Given the description of an element on the screen output the (x, y) to click on. 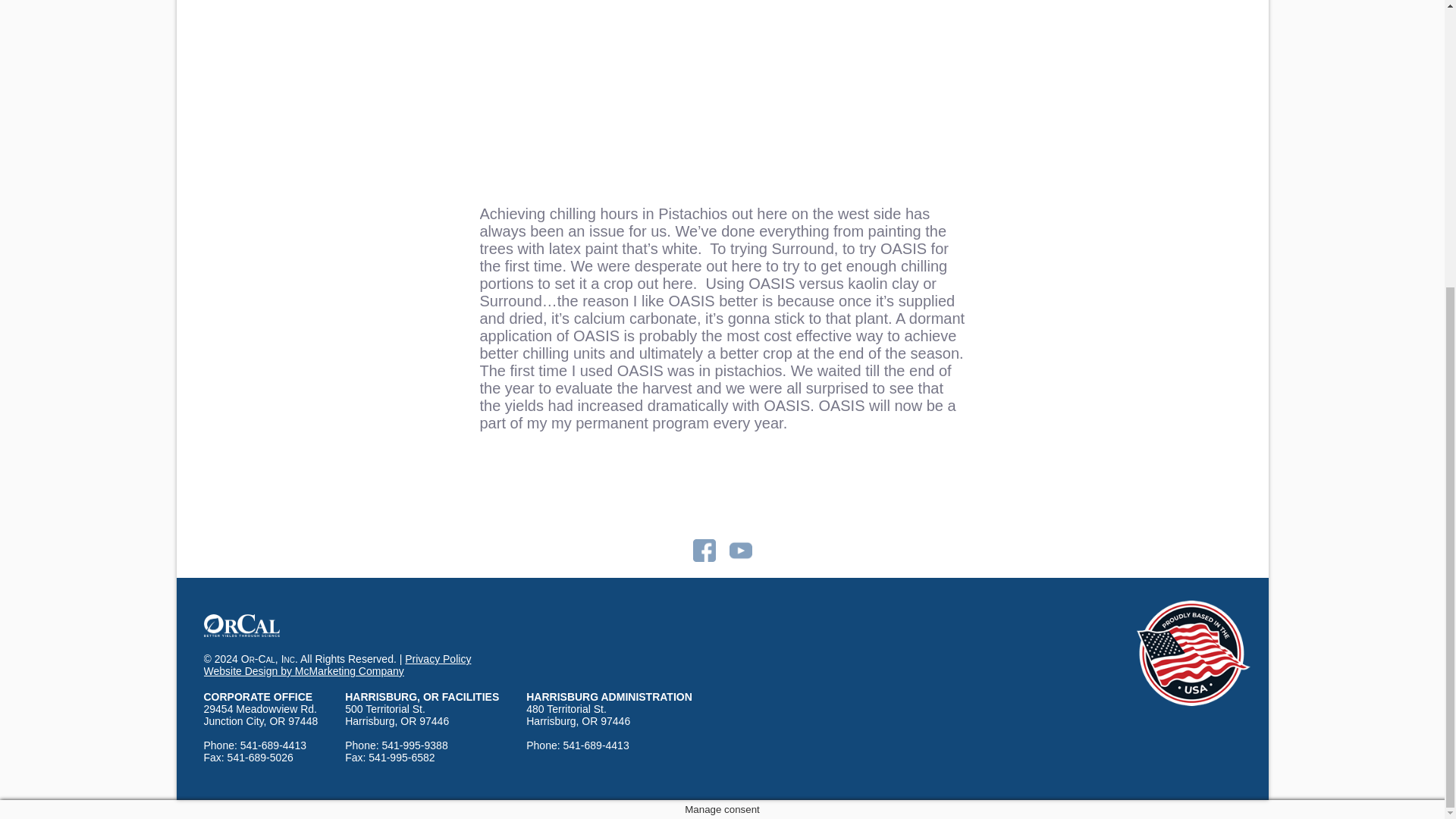
Privacy Policy (437, 658)
Website Design by McMarketing Company (303, 671)
Facebook (703, 550)
OASIS for Chilling Pistachios (721, 102)
YouTube (740, 550)
